Given the description of an element on the screen output the (x, y) to click on. 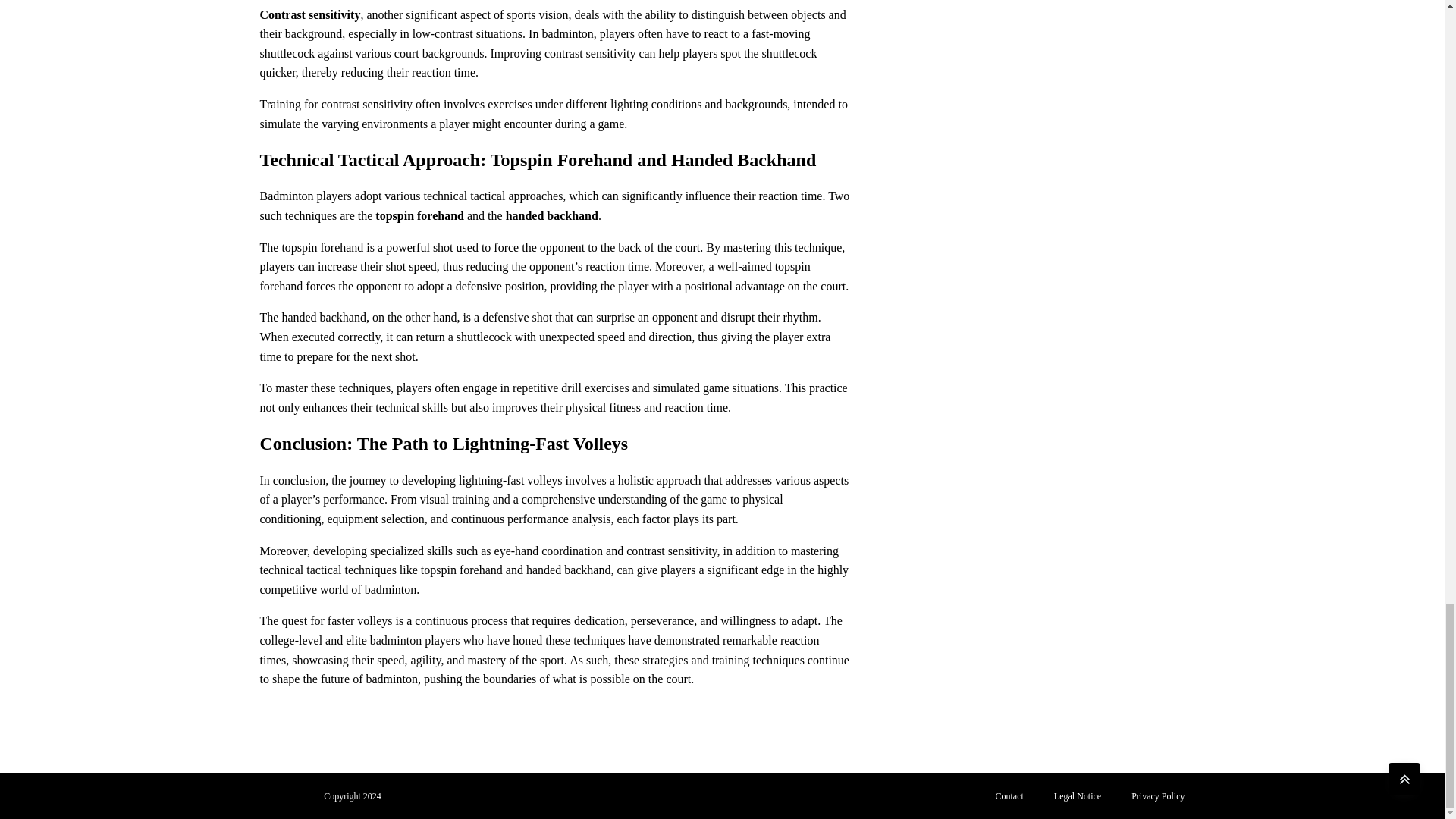
Contact (1009, 796)
Privacy Policy (1157, 796)
Legal Notice (1077, 796)
